Given the description of an element on the screen output the (x, y) to click on. 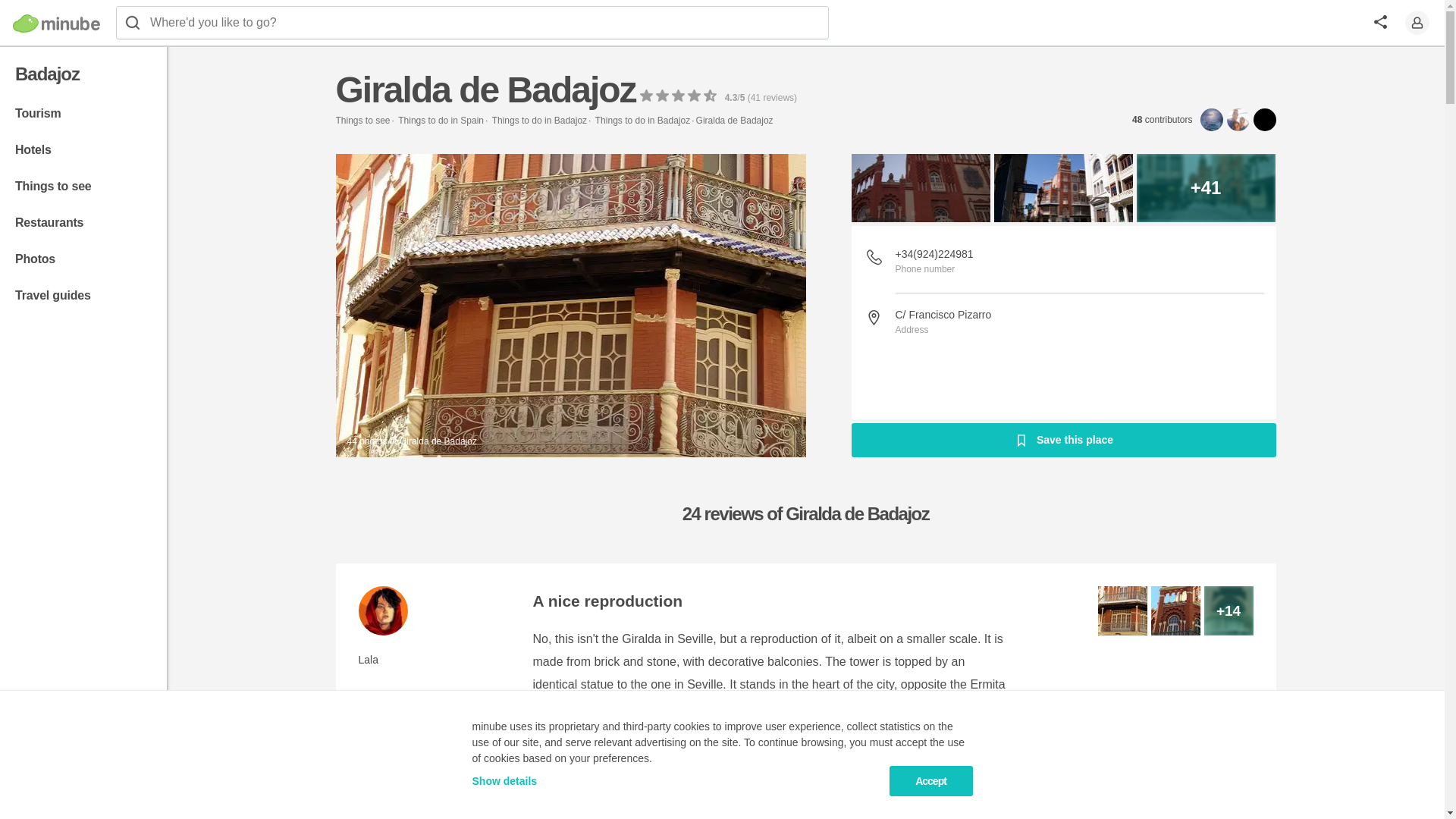
things to see (81, 185)
Things to do in Badajoz: attractions and things to see (642, 120)
photos (81, 258)
Badajoz Restaurants: Places to Eat (81, 222)
Address Giralda de Badajoz (979, 314)
Things to do in Spain (440, 120)
Things to see (362, 120)
Badajoz Travel Guides (81, 295)
Badajoz Photos (81, 258)
